Given the description of an element on the screen output the (x, y) to click on. 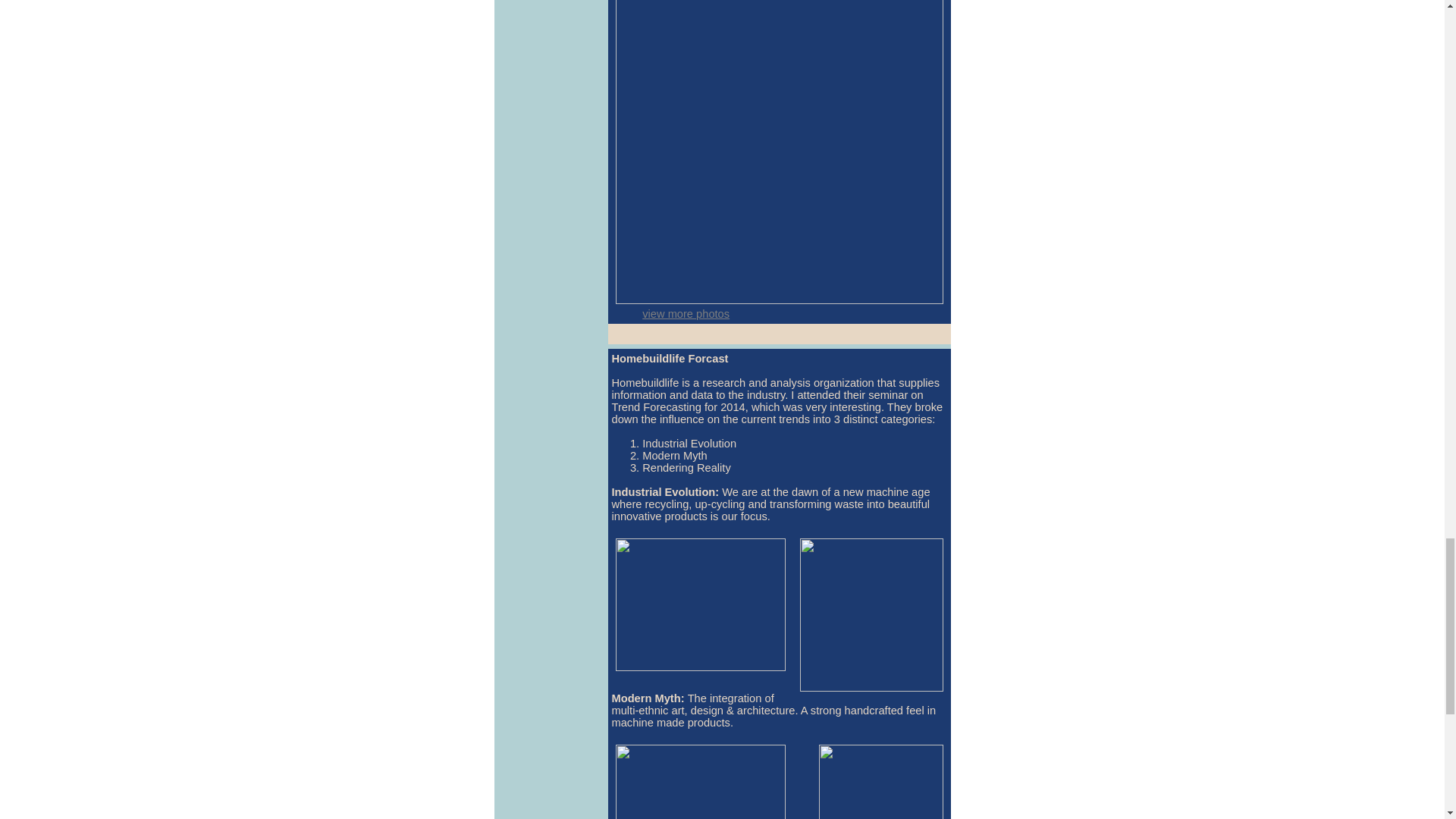
view more photos (685, 313)
